Given the description of an element on the screen output the (x, y) to click on. 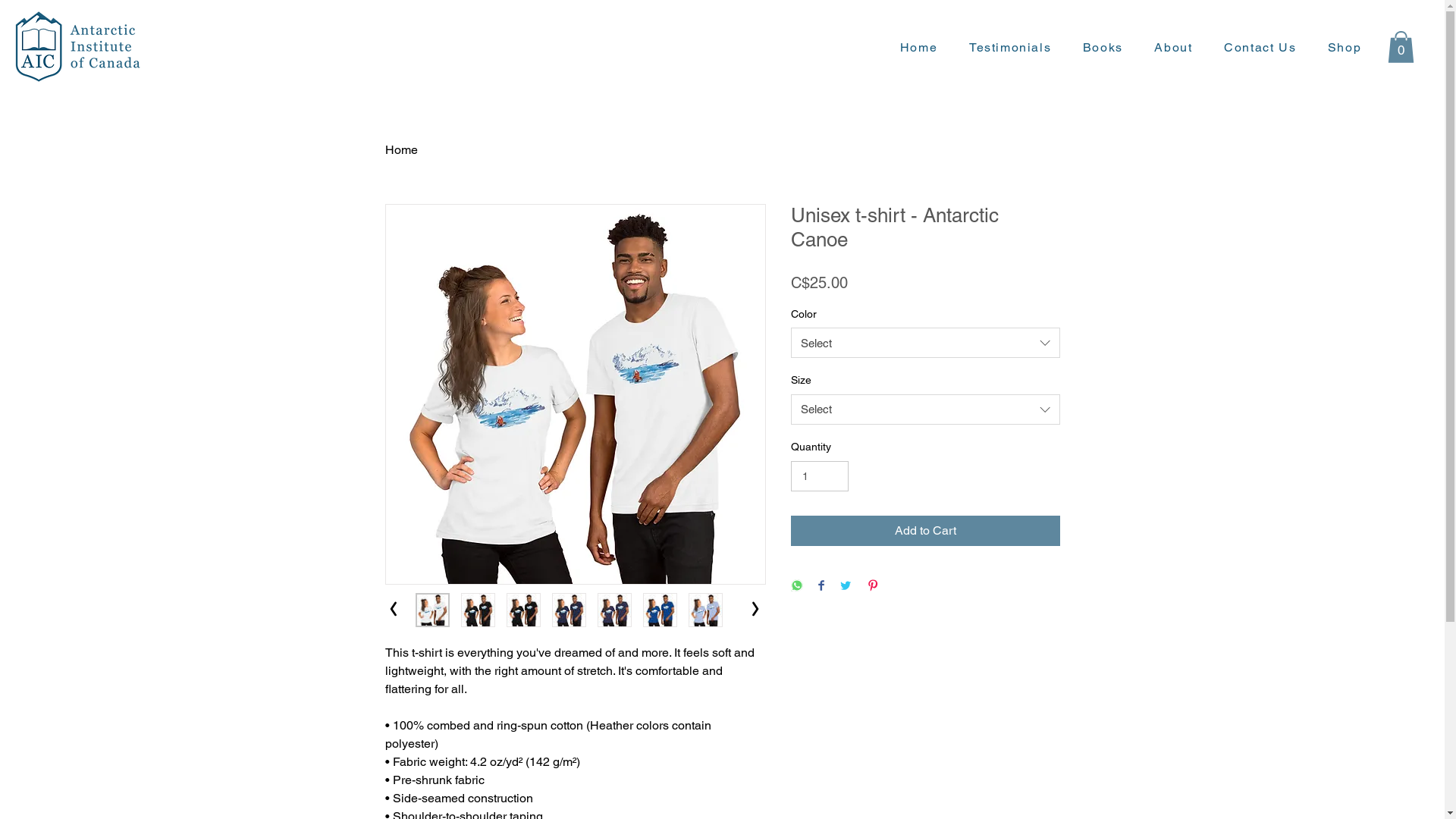
Books Element type: text (1102, 47)
Select Element type: text (924, 342)
About Element type: text (1173, 47)
Shop Element type: text (1344, 47)
Select Element type: text (924, 409)
Testimonials Element type: text (1009, 47)
Home Element type: text (401, 149)
Add to Cart Element type: text (924, 530)
0 Element type: text (1400, 46)
Contact Us Element type: text (1259, 47)
Home Element type: text (918, 47)
